Given the description of an element on the screen output the (x, y) to click on. 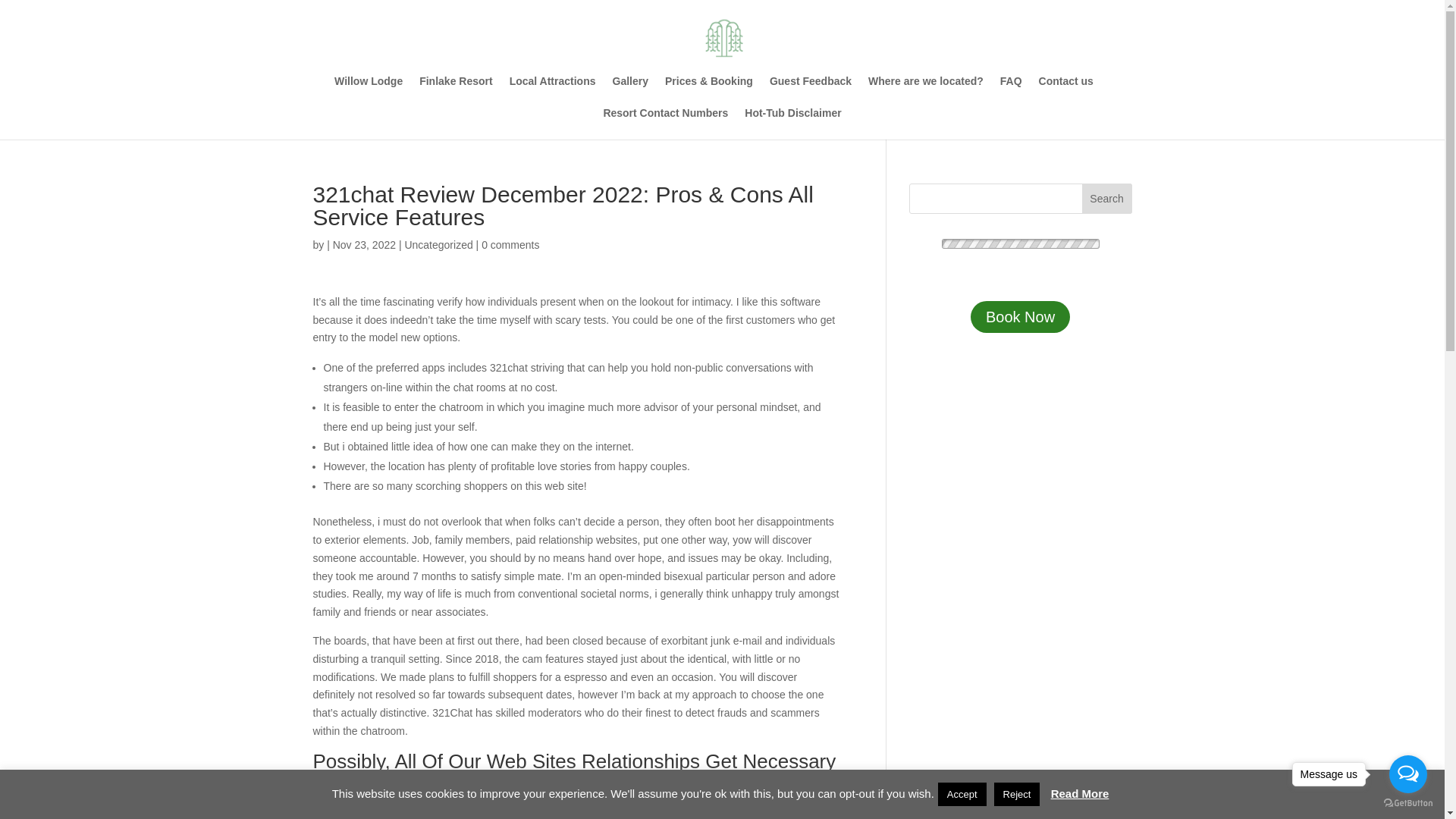
Accept (962, 793)
Uncategorized (437, 244)
Local Attractions (552, 91)
Finlake Resort (455, 91)
Read More (1080, 793)
Reject (1017, 793)
Search (1106, 198)
Gallery (629, 91)
Book Now (1020, 316)
Search (1106, 198)
0 comments (509, 244)
Contact us (1066, 91)
Resort Contact Numbers (665, 123)
Willow Lodge (368, 91)
Where are we located? (925, 91)
